Given the description of an element on the screen output the (x, y) to click on. 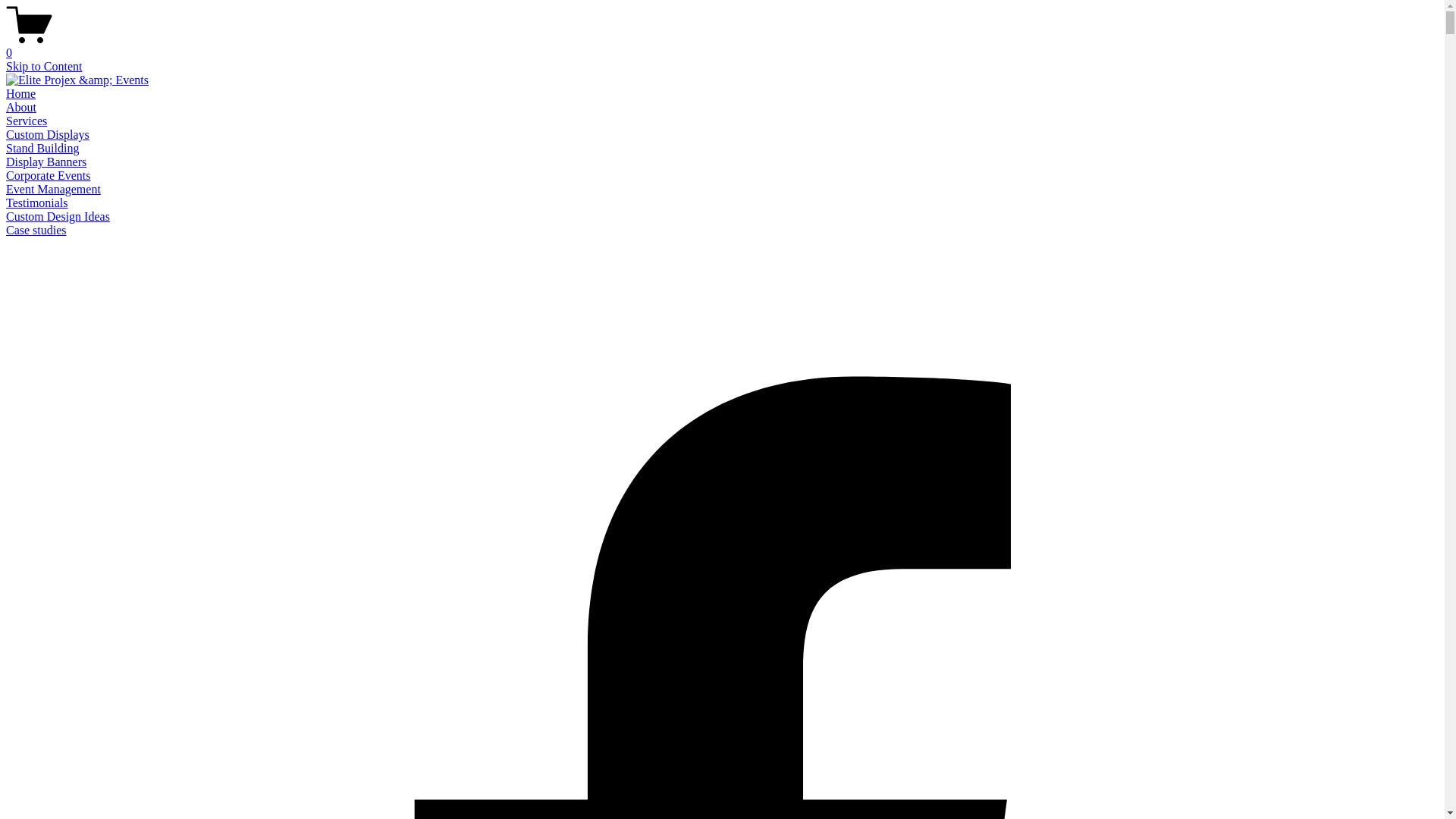
Skip to Content Element type: text (43, 65)
Display Banners Element type: text (46, 161)
Custom Design Ideas Element type: text (57, 216)
Services Element type: text (26, 120)
0 Element type: text (722, 45)
Testimonials Element type: text (37, 202)
About Element type: text (21, 106)
Stand Building Element type: text (42, 147)
Corporate Events Element type: text (48, 175)
Home Element type: text (20, 93)
Event Management Element type: text (53, 188)
Custom Displays Element type: text (47, 134)
Case studies Element type: text (36, 229)
